Given the description of an element on the screen output the (x, y) to click on. 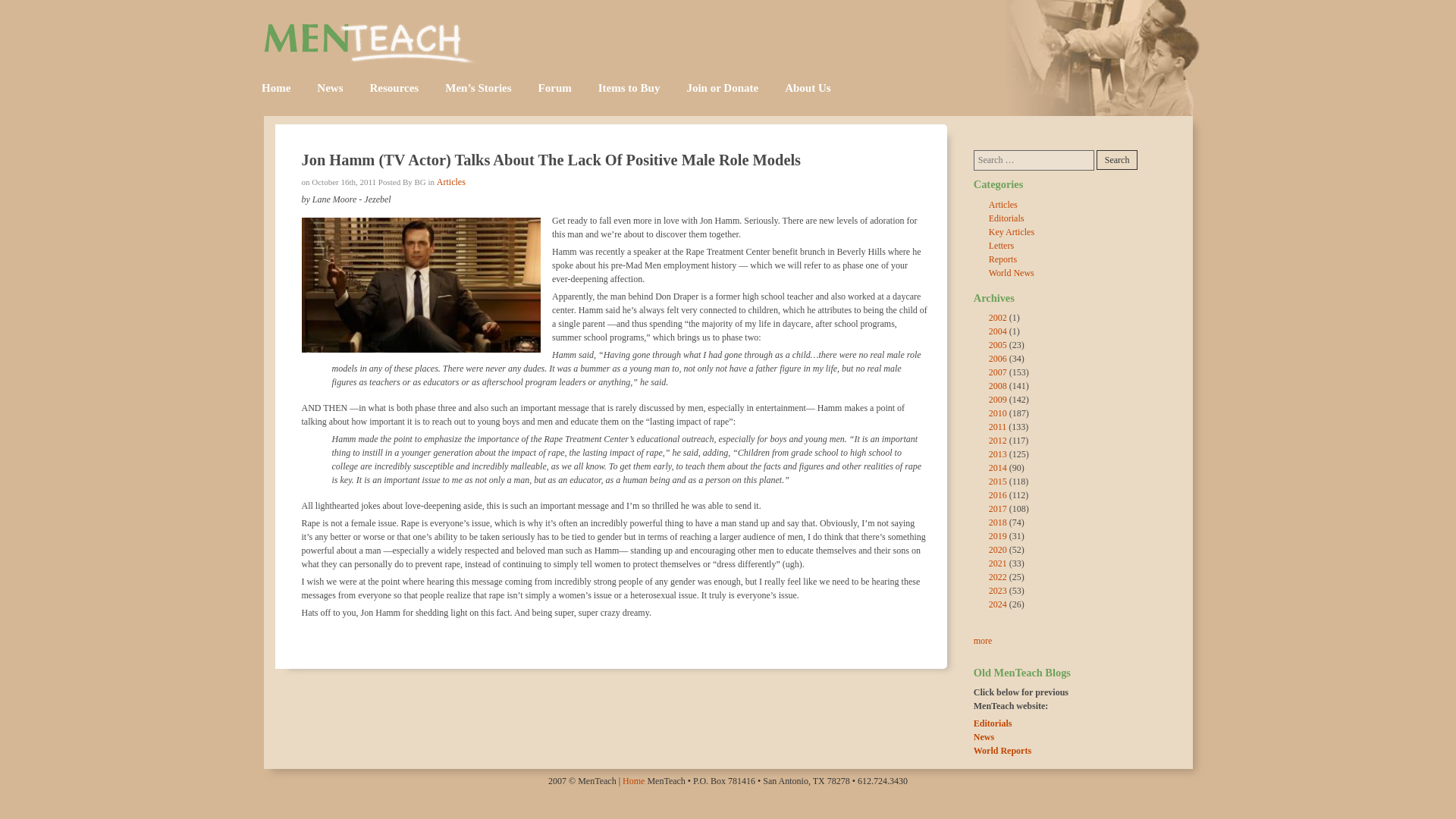
2002 (997, 317)
2021 (997, 562)
2009 (997, 398)
Key Articles (1010, 231)
Articles (450, 181)
2004 (997, 330)
Search (1117, 159)
World News (1010, 272)
2011 (997, 426)
Search (1117, 159)
